Given the description of an element on the screen output the (x, y) to click on. 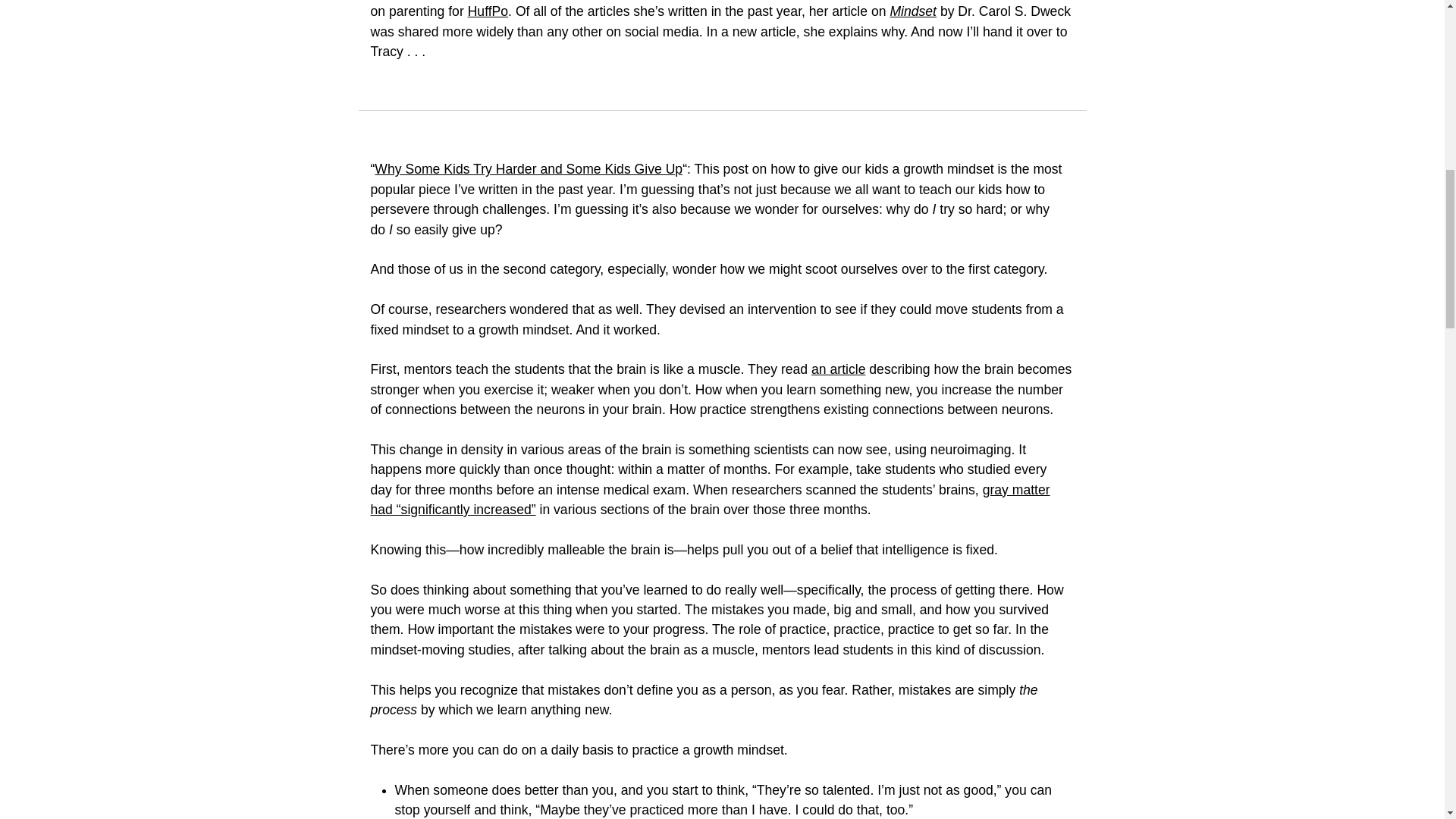
Mindset (912, 11)
Why Some Kids Try Harder and Some Kids Give Up (528, 168)
an article (837, 368)
HuffPo (487, 11)
